Given the description of an element on the screen output the (x, y) to click on. 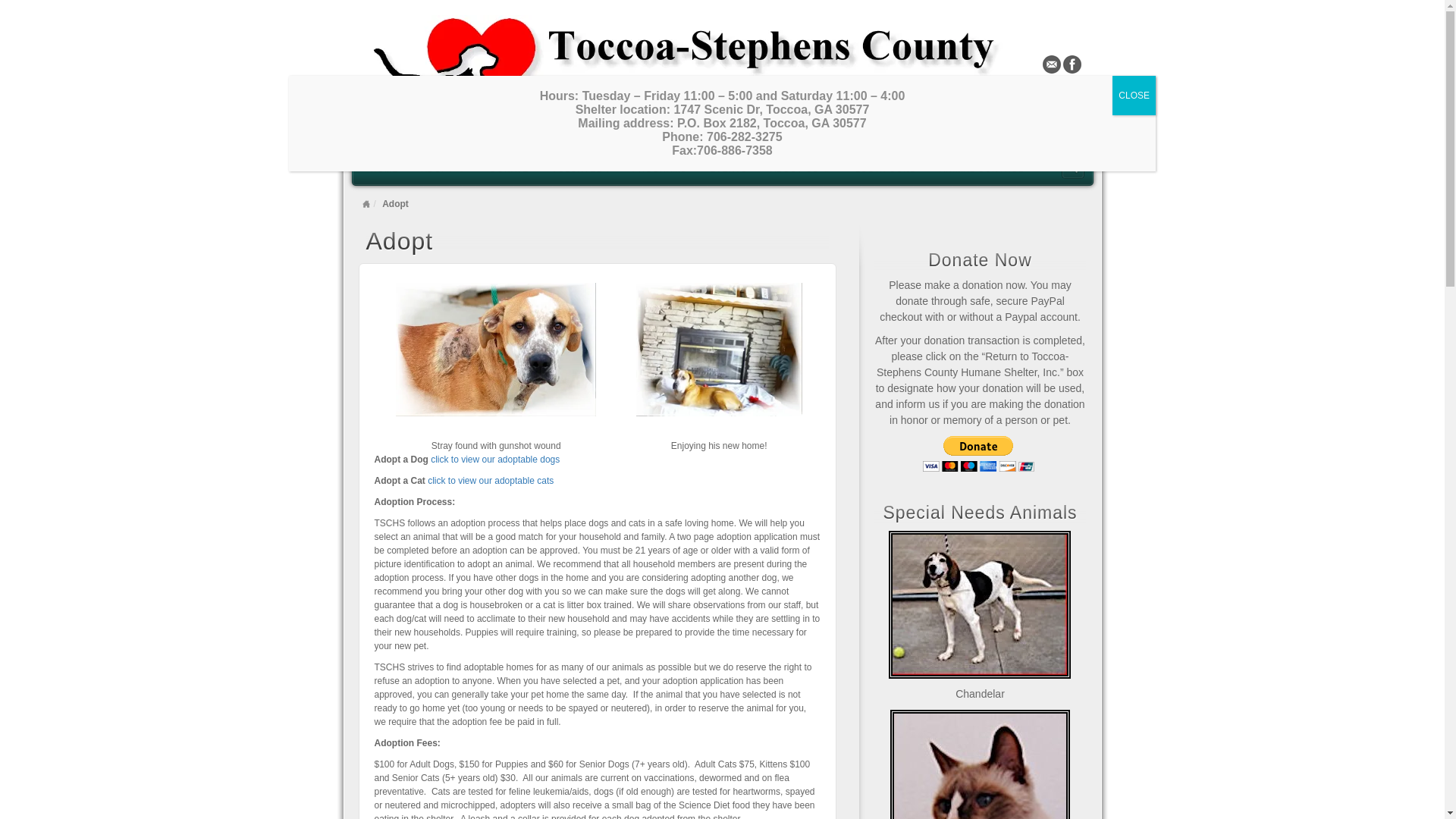
click to view our adoptable cats (490, 480)
Facebook (1071, 63)
Email (1051, 63)
Search the site... (1072, 167)
DONATE (507, 166)
ABOUT US (800, 166)
Search the site... (1072, 167)
HOME (383, 166)
VOLUNTEER (579, 166)
ADOPT (444, 166)
